Given the description of an element on the screen output the (x, y) to click on. 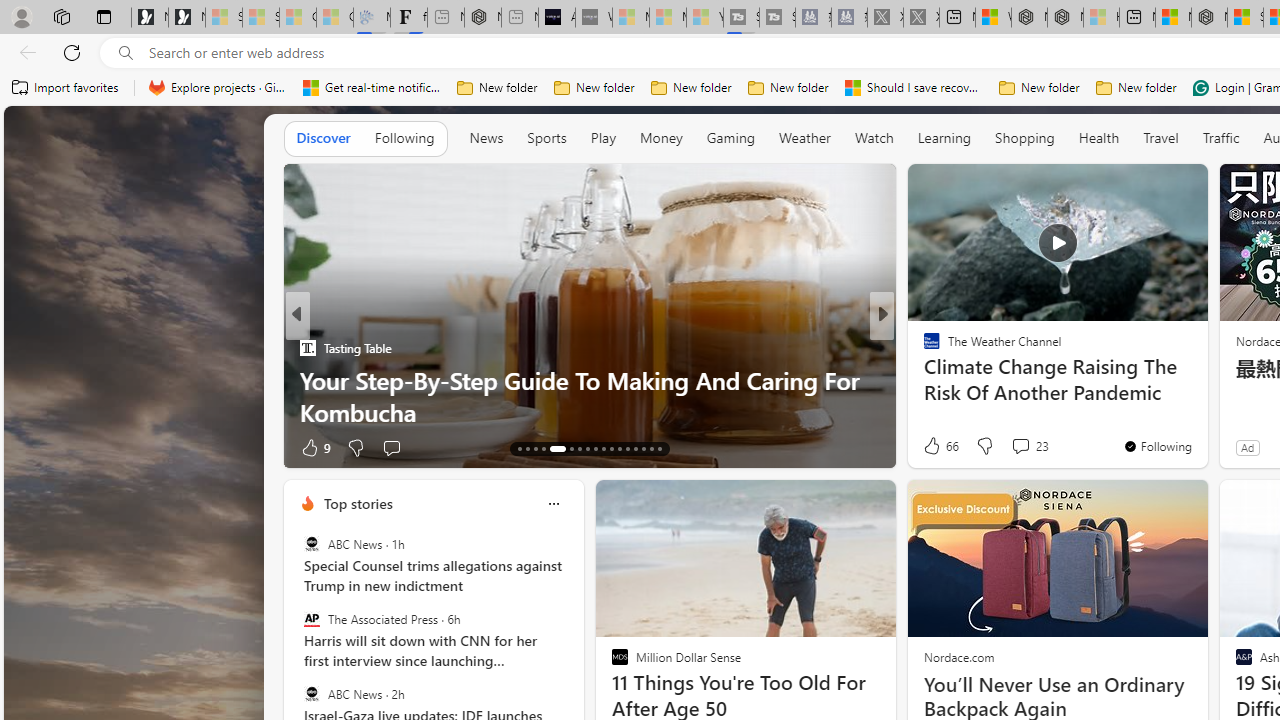
1k Like (933, 447)
115 Like (936, 447)
View comments 7 Comment (1026, 447)
Nordace.com (958, 656)
View comments 124 Comment (1019, 447)
The Daily Beast (923, 347)
Top stories (357, 503)
View comments 10 Comment (1029, 447)
